Given the description of an element on the screen output the (x, y) to click on. 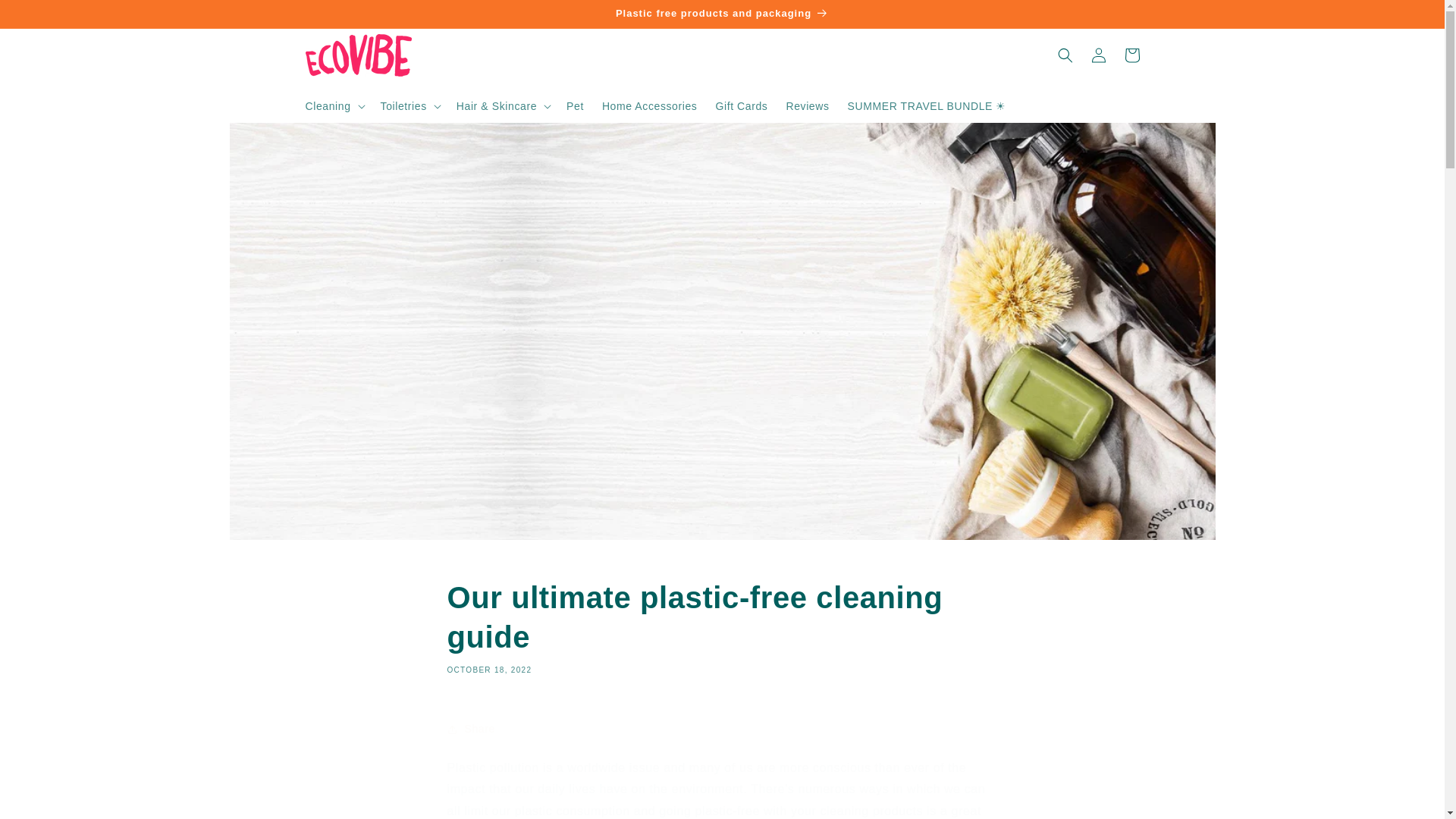
Skip to content (45, 17)
Share (721, 729)
